Given the description of an element on the screen output the (x, y) to click on. 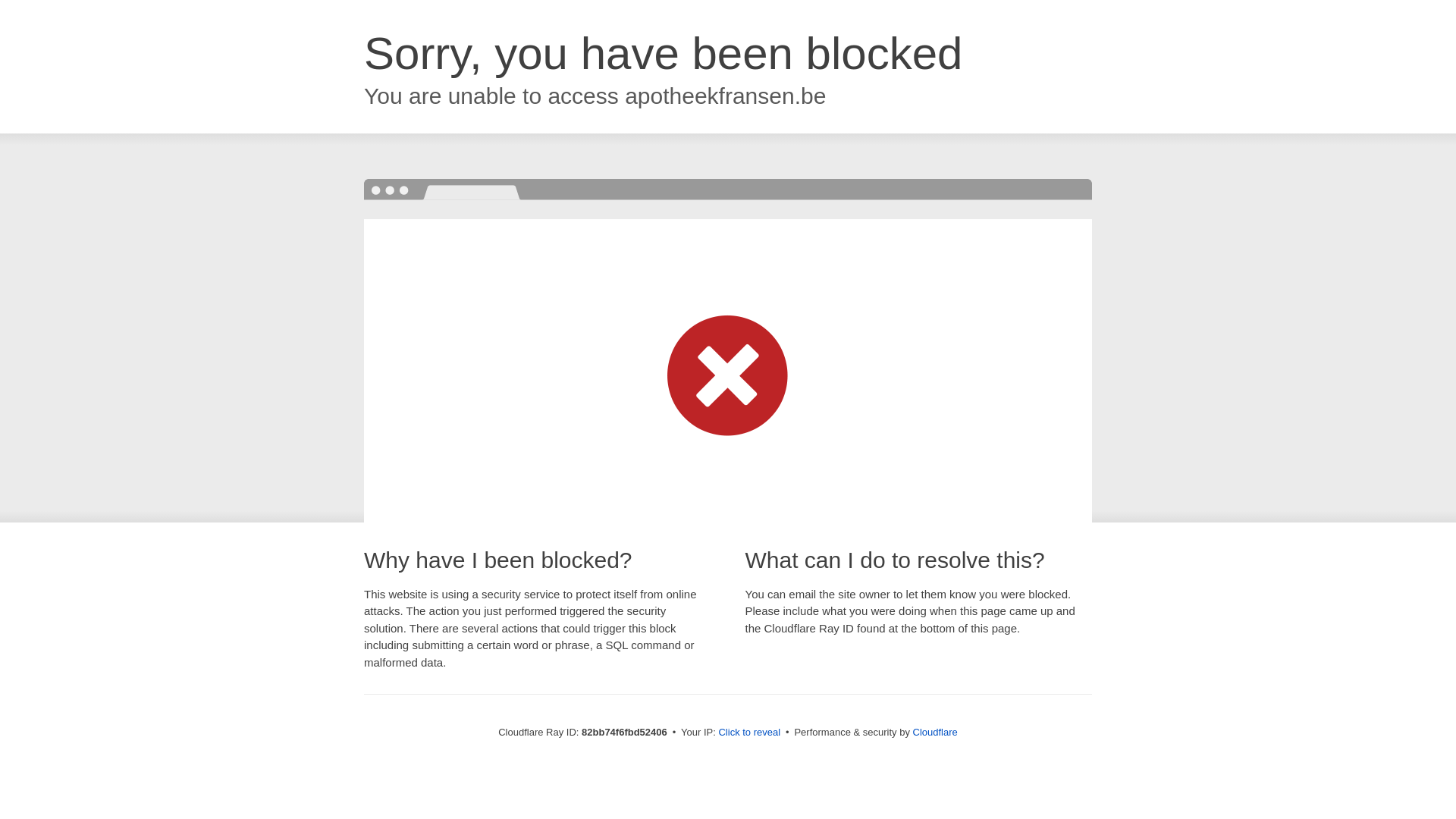
Cloudflare Element type: text (935, 731)
Click to reveal Element type: text (749, 732)
